Given the description of an element on the screen output the (x, y) to click on. 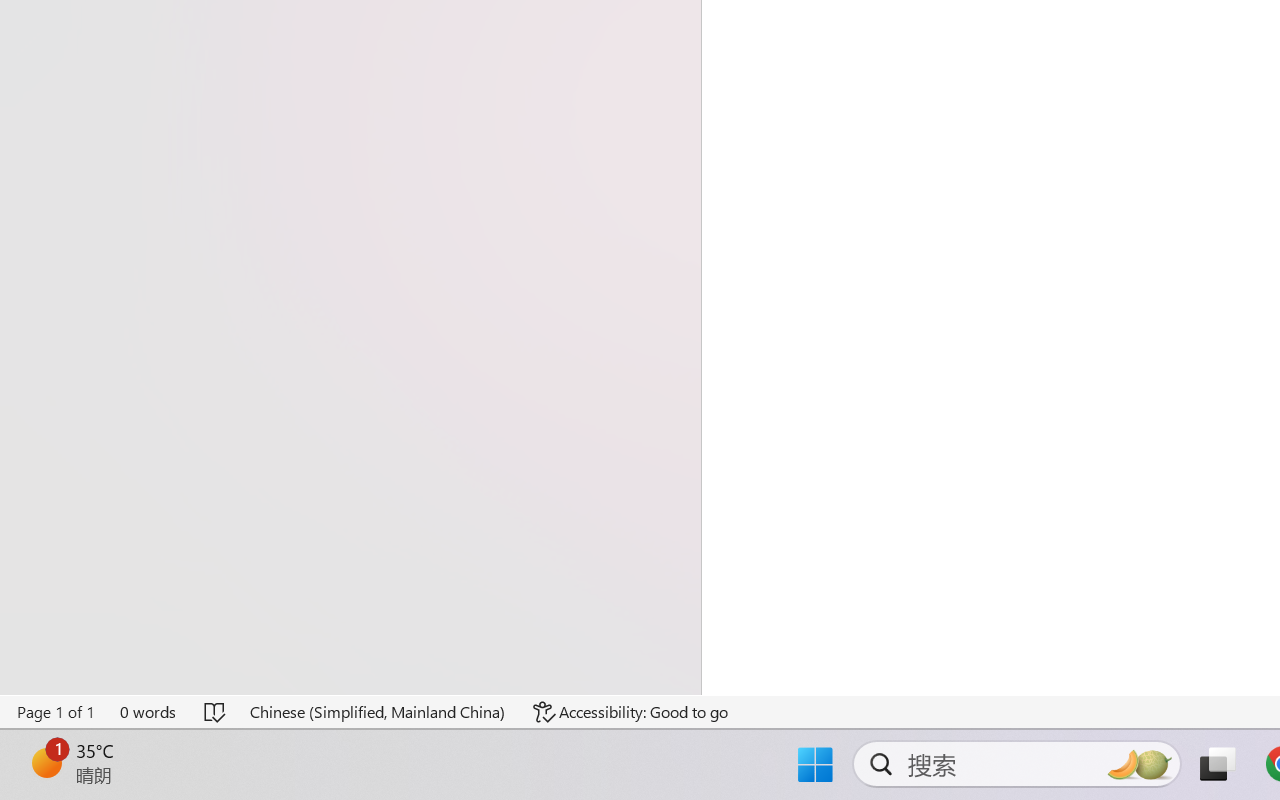
Language Chinese (Simplified, Mainland China) (378, 712)
